Given the description of an element on the screen output the (x, y) to click on. 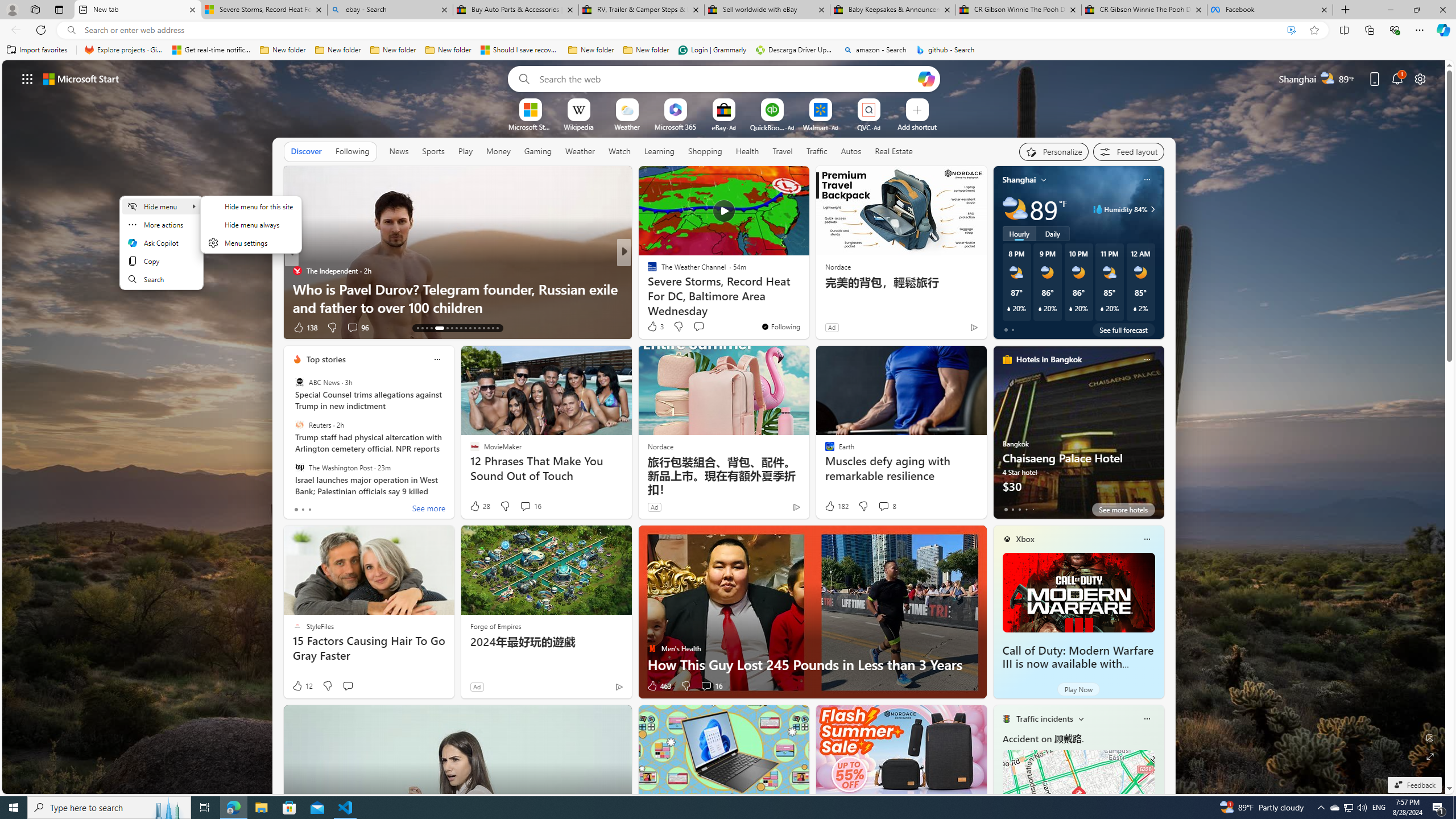
Edit Background (1430, 737)
Money (498, 151)
Money (497, 151)
View comments 16 Comment (710, 685)
ETNT Mind+Body (647, 270)
Traffic (816, 151)
Facebook (1270, 9)
Humidity 84% (1150, 208)
3 Like (655, 326)
